Given the description of an element on the screen output the (x, y) to click on. 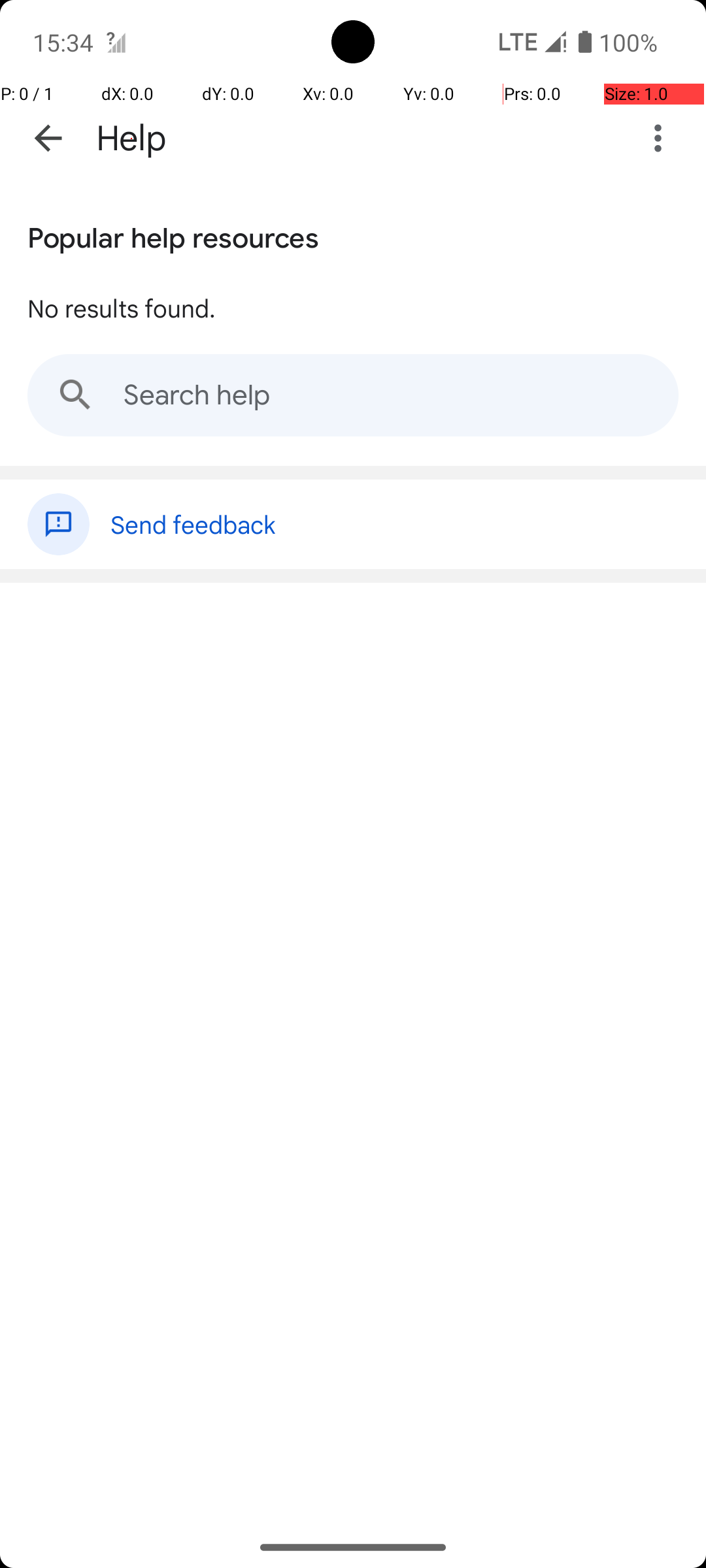
Popular help resources Element type: android.widget.TextView (173, 235)
Search help Element type: androidx.cardview.widget.CardView (352, 395)
No results found. Element type: android.widget.TextView (121, 307)
Send feedback Element type: android.widget.TextView (394, 516)
